Given the description of an element on the screen output the (x, y) to click on. 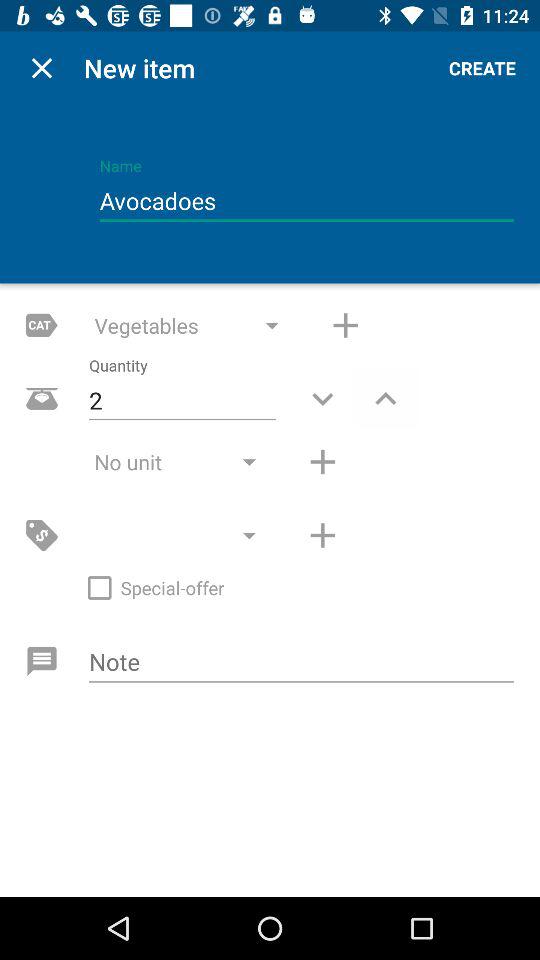
add option (322, 535)
